Given the description of an element on the screen output the (x, y) to click on. 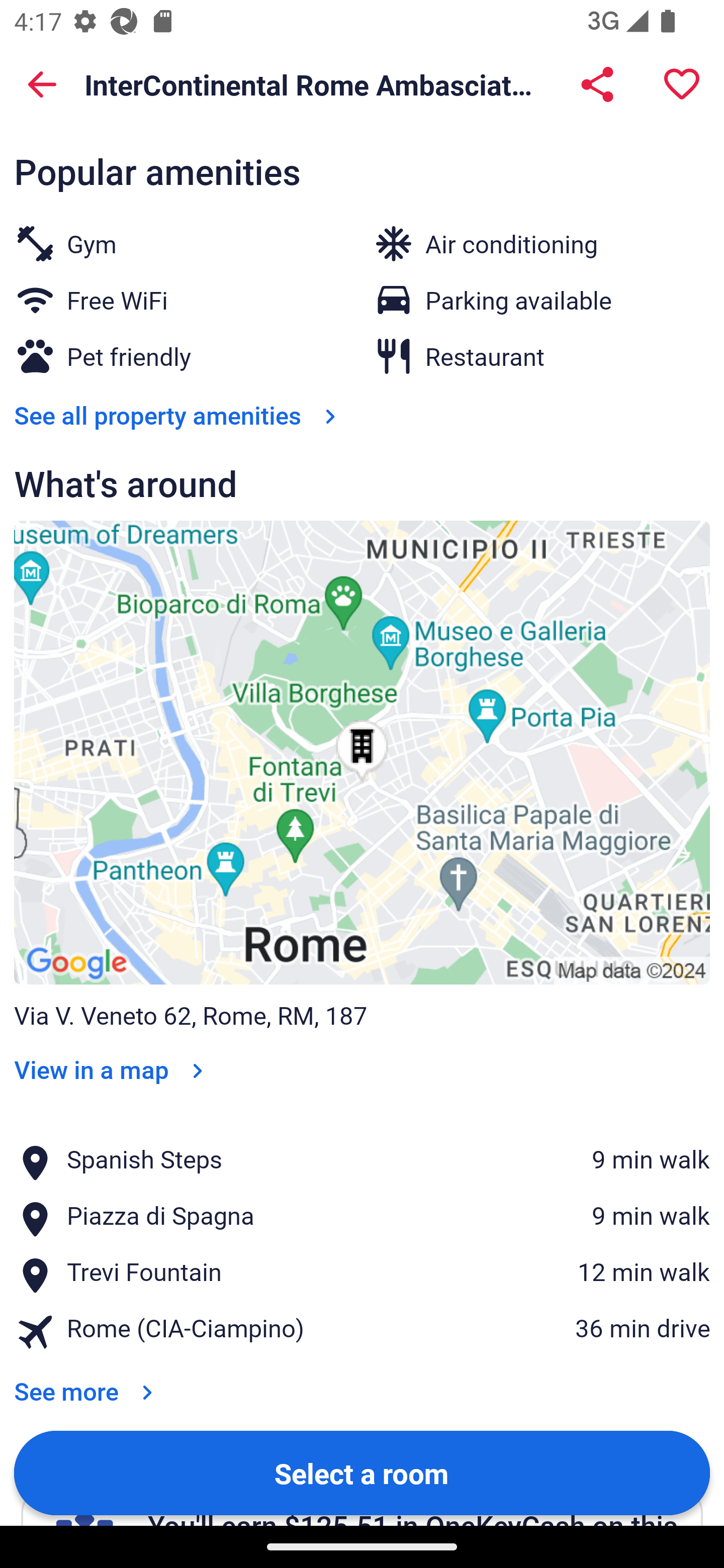
Back (42, 84)
Save property to a trip (681, 84)
See all property amenities (178, 415)
See more (86, 1378)
Select a room Button Select a room (361, 1472)
